Given the description of an element on the screen output the (x, y) to click on. 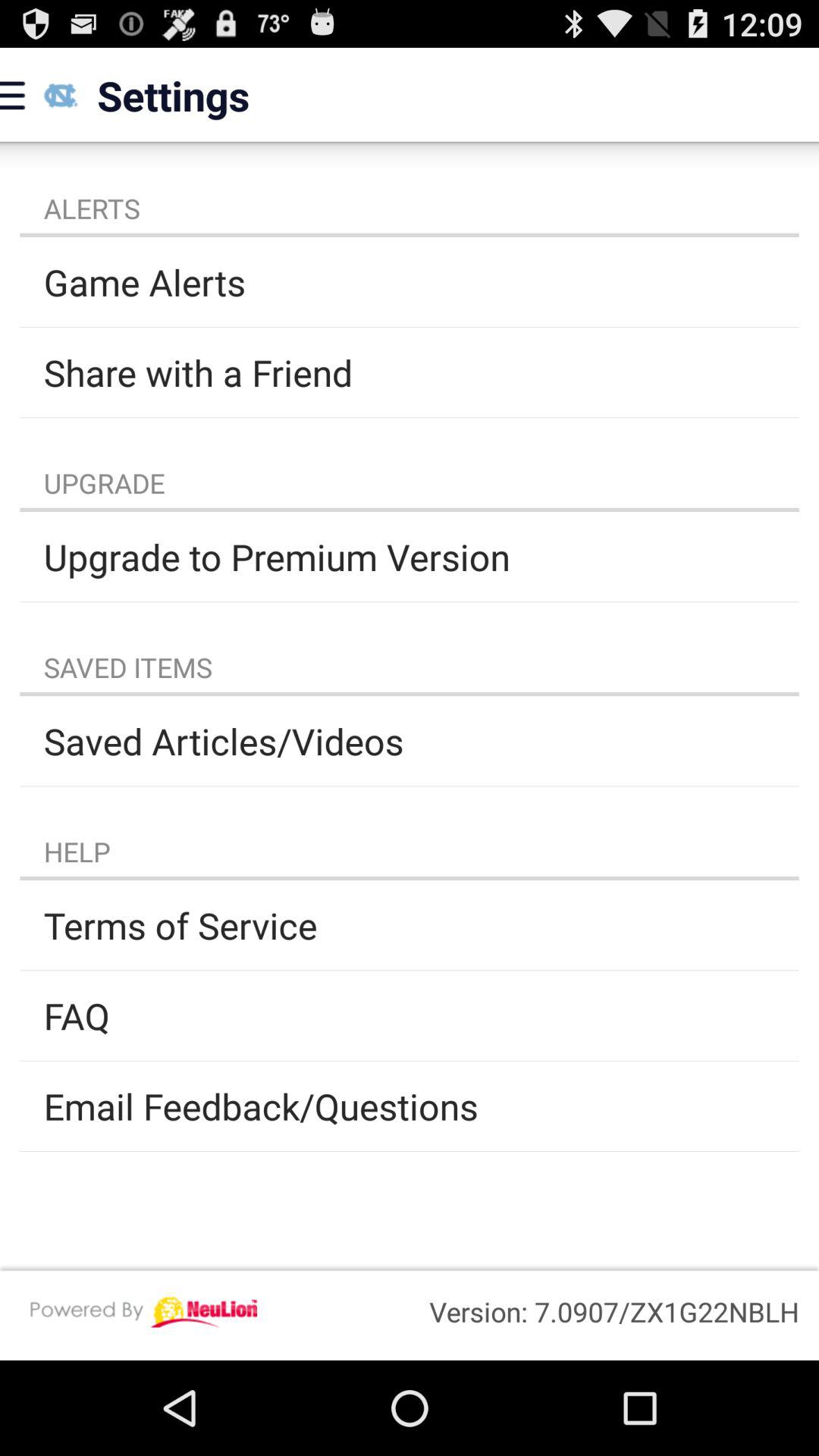
click email feedback/questions app (409, 1106)
